Given the description of an element on the screen output the (x, y) to click on. 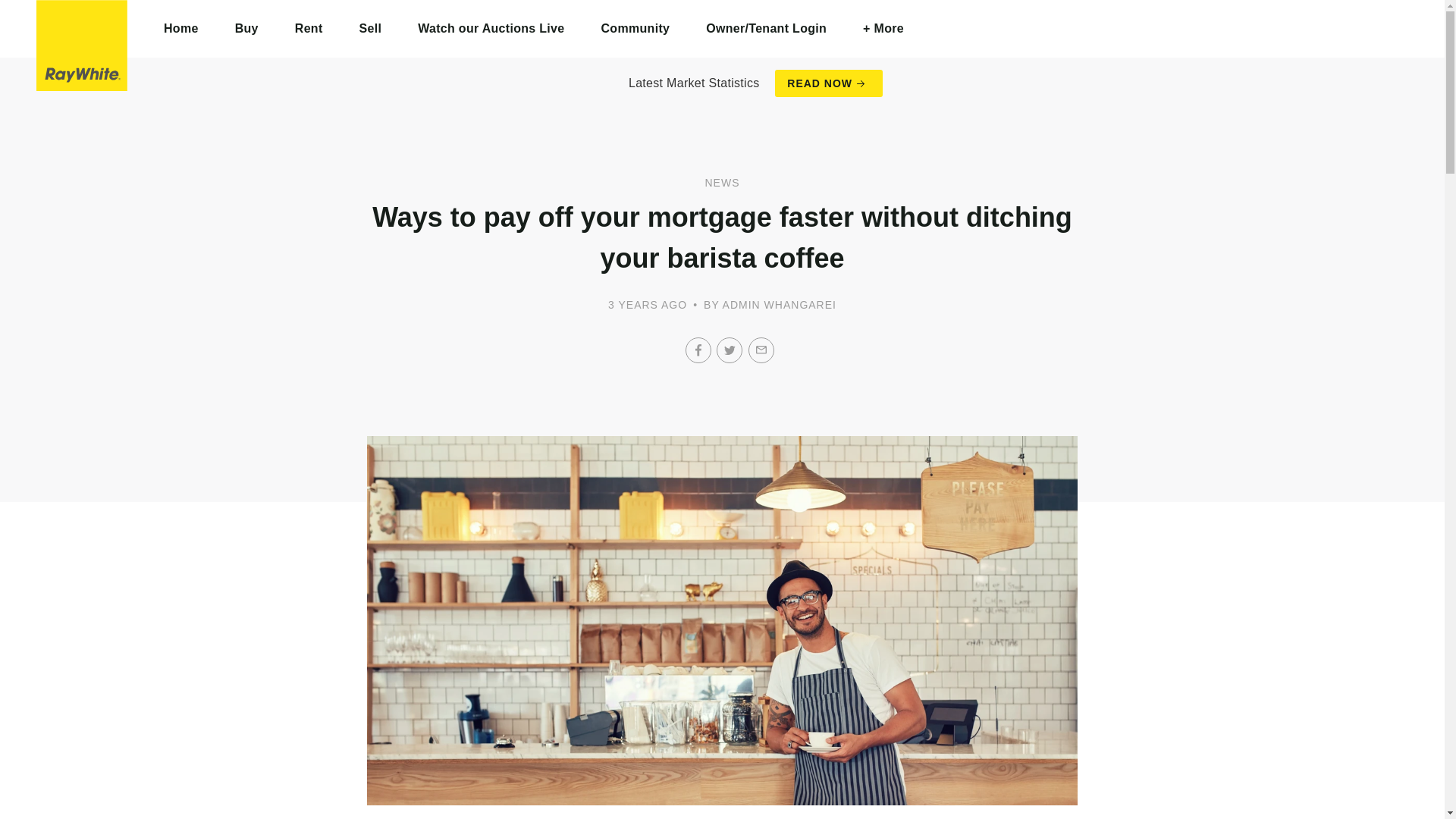
READ NOW (828, 83)
Twitter (729, 350)
Facebook (698, 350)
Ray White Whangarei (82, 45)
Watch our Auctions Live (490, 28)
Email (761, 350)
Home (180, 28)
